Given the description of an element on the screen output the (x, y) to click on. 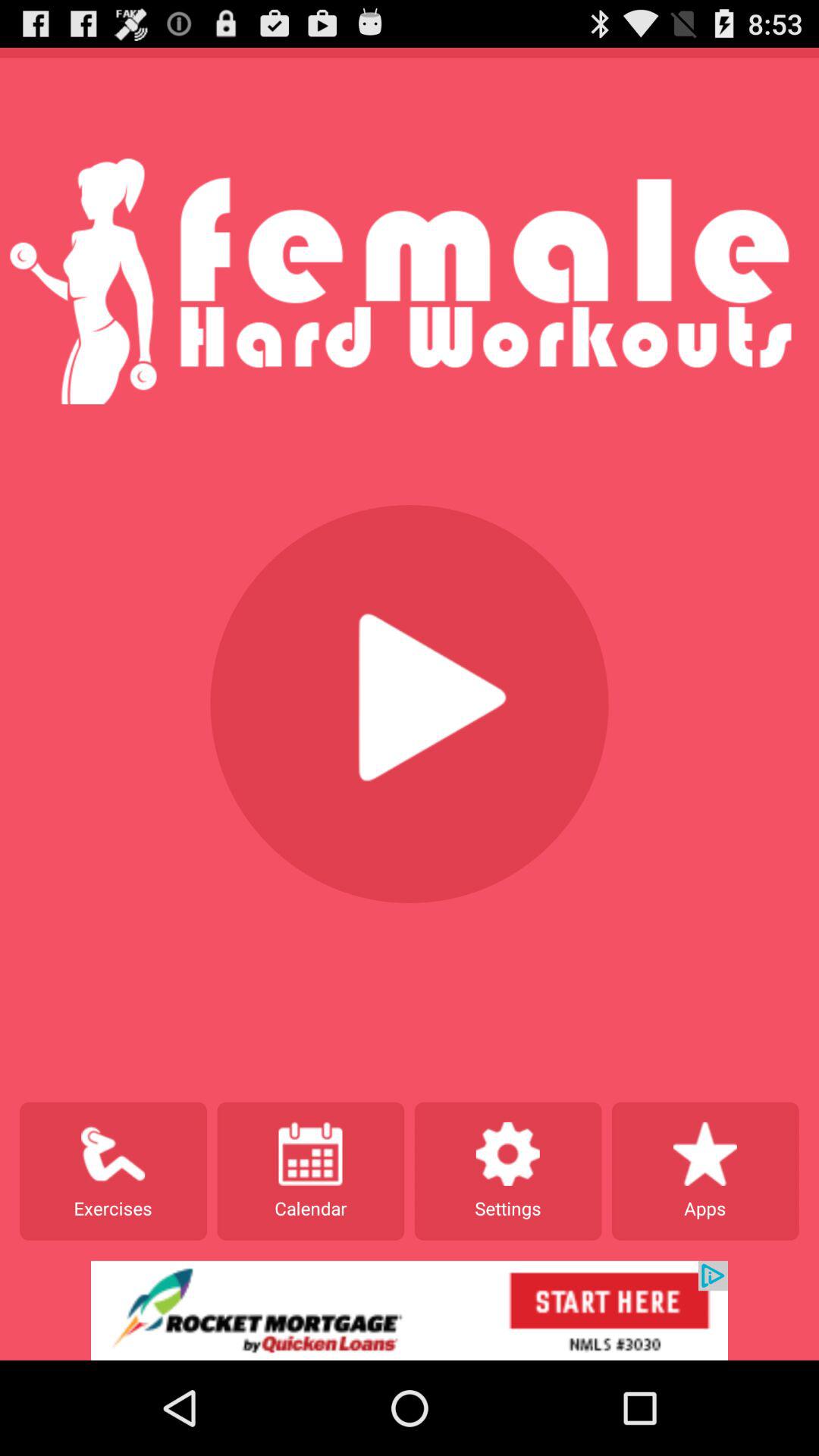
play the audio (409, 704)
